Given the description of an element on the screen output the (x, y) to click on. 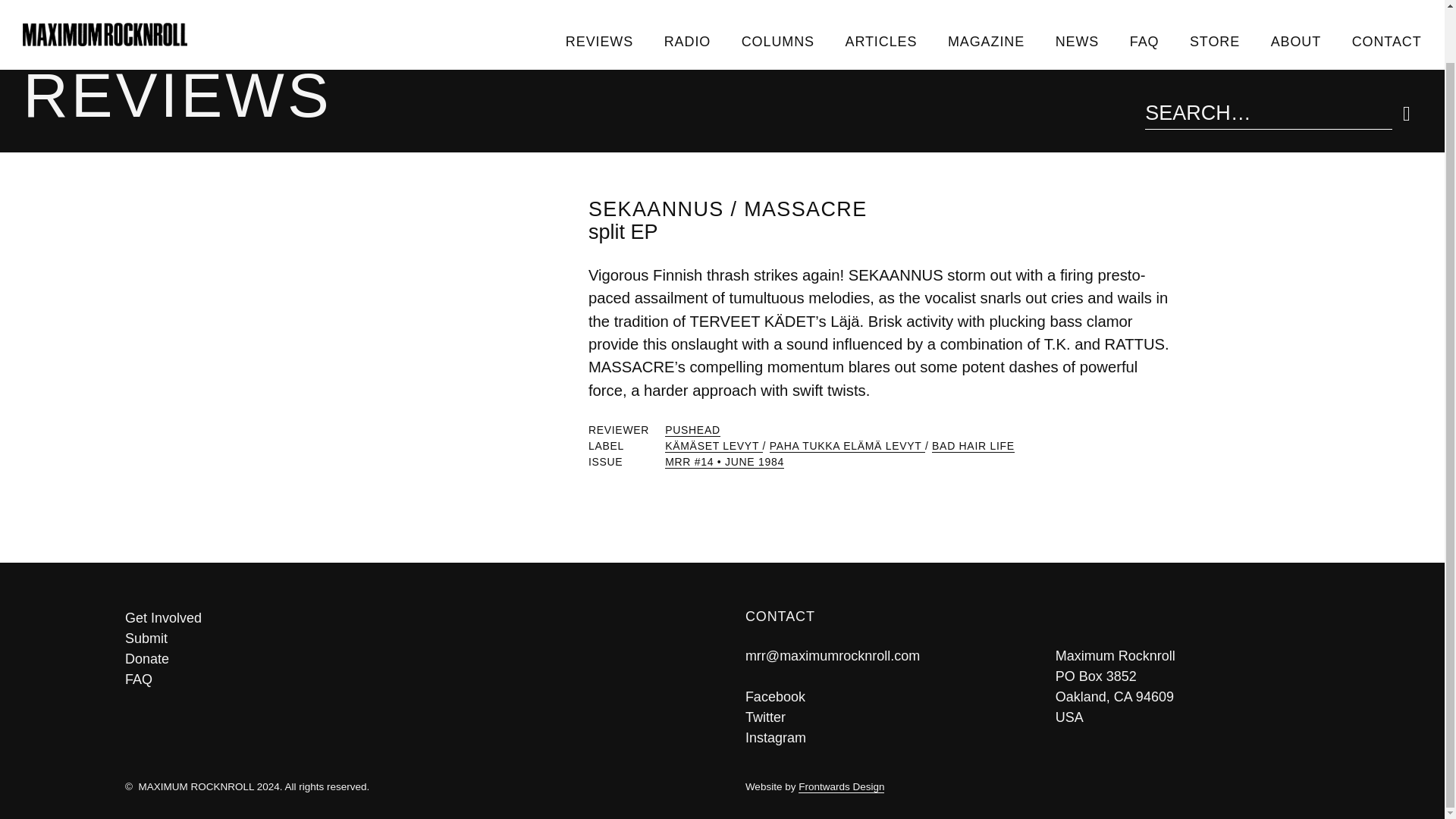
MASSACRE (805, 209)
COLUMNS (777, 0)
Submit (411, 638)
Frontwards Design (840, 787)
Instagram (775, 737)
FAQ (411, 679)
Twitter (765, 717)
NEWS (1076, 0)
PUSHEAD (692, 430)
Donate (411, 659)
ABOUT (1295, 0)
Get Involved (411, 618)
STORE (1214, 0)
Facebook (775, 696)
FAQ (1143, 0)
